Given the description of an element on the screen output the (x, y) to click on. 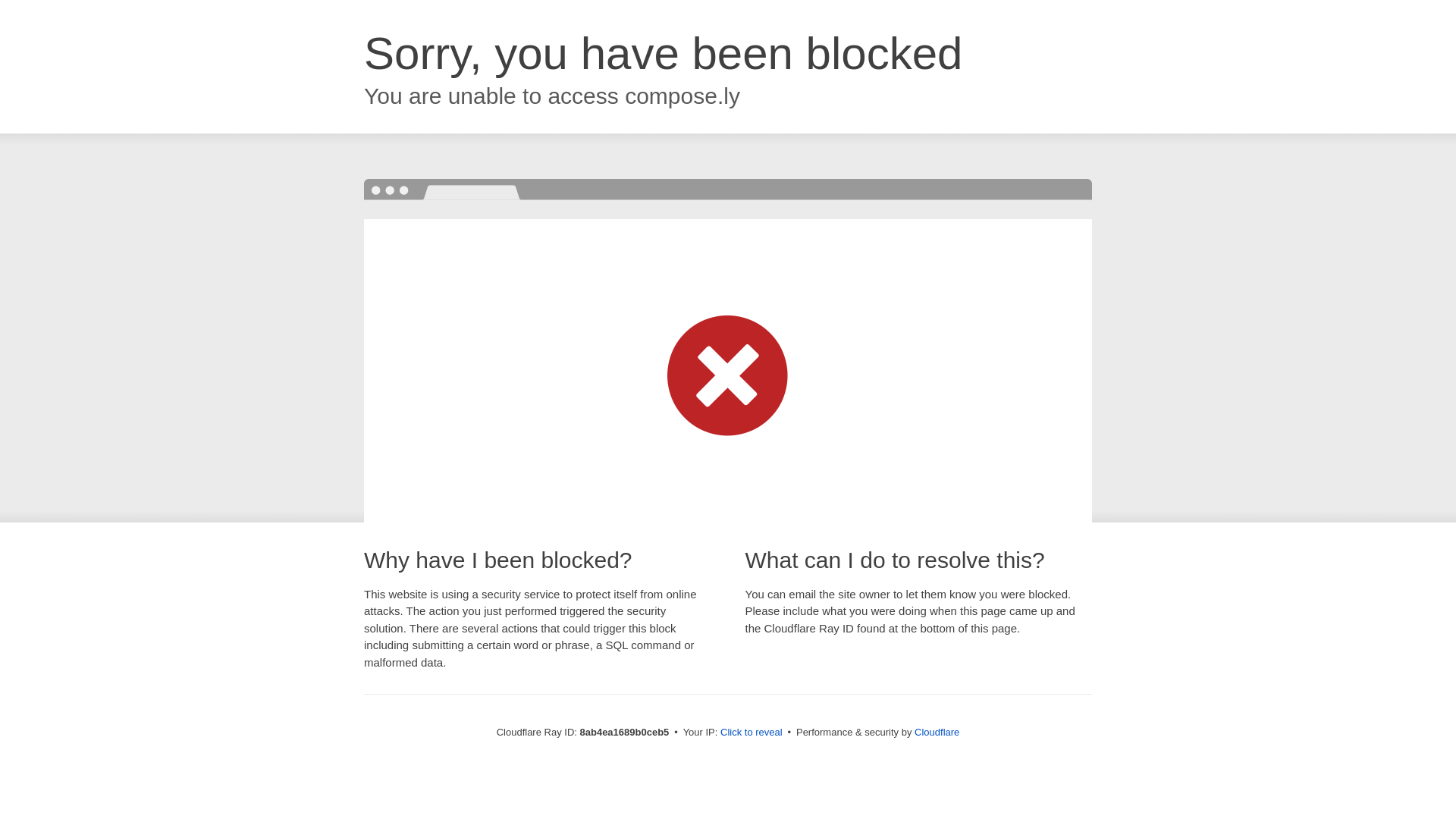
Click to reveal (751, 732)
Cloudflare (936, 731)
